Given the description of an element on the screen output the (x, y) to click on. 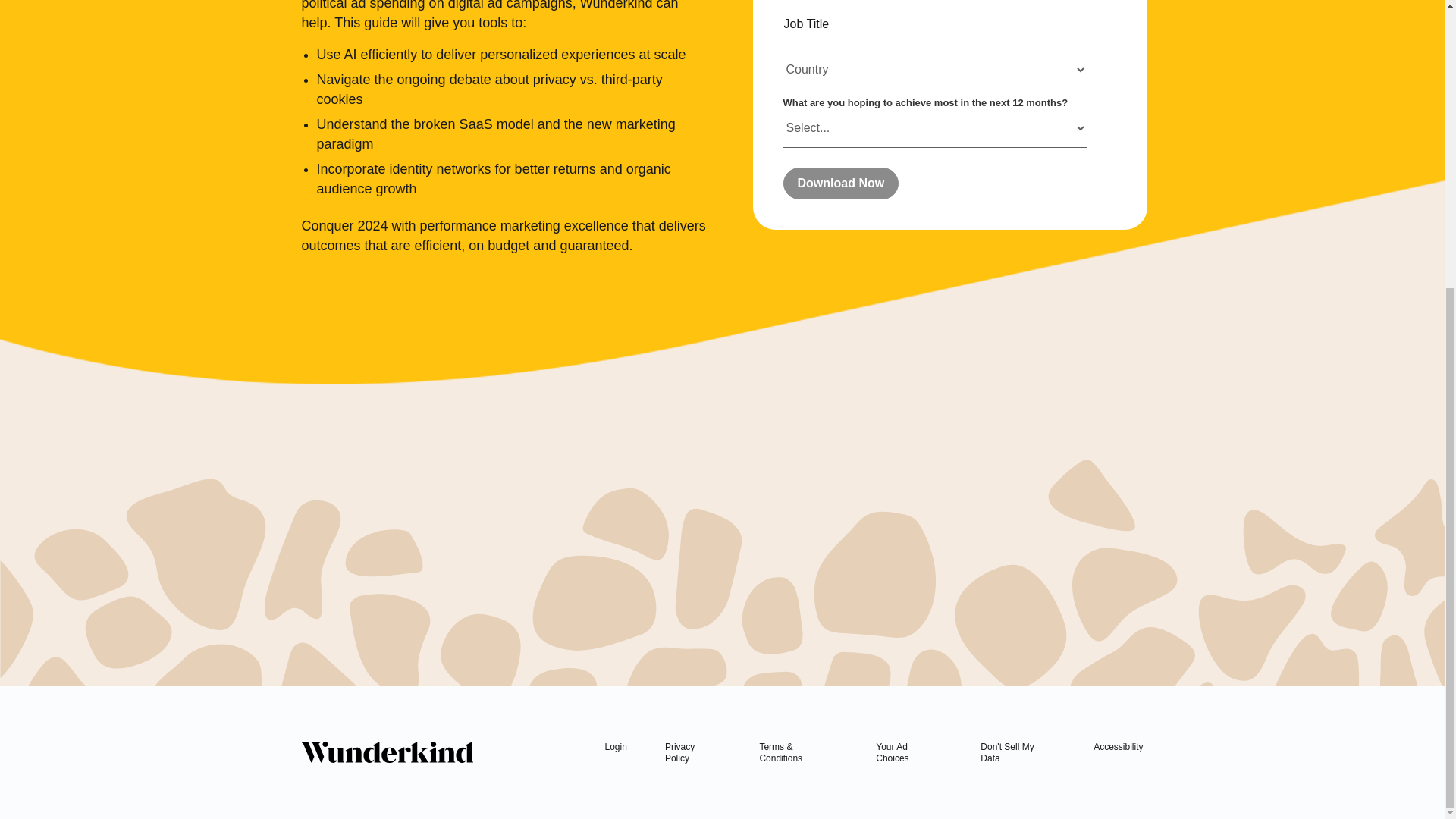
Your Ad Choices (892, 752)
Accessibility (1117, 747)
Download Now (840, 183)
Don't Sell My Data (1006, 752)
Login (616, 747)
Privacy Policy (679, 752)
